Given the description of an element on the screen output the (x, y) to click on. 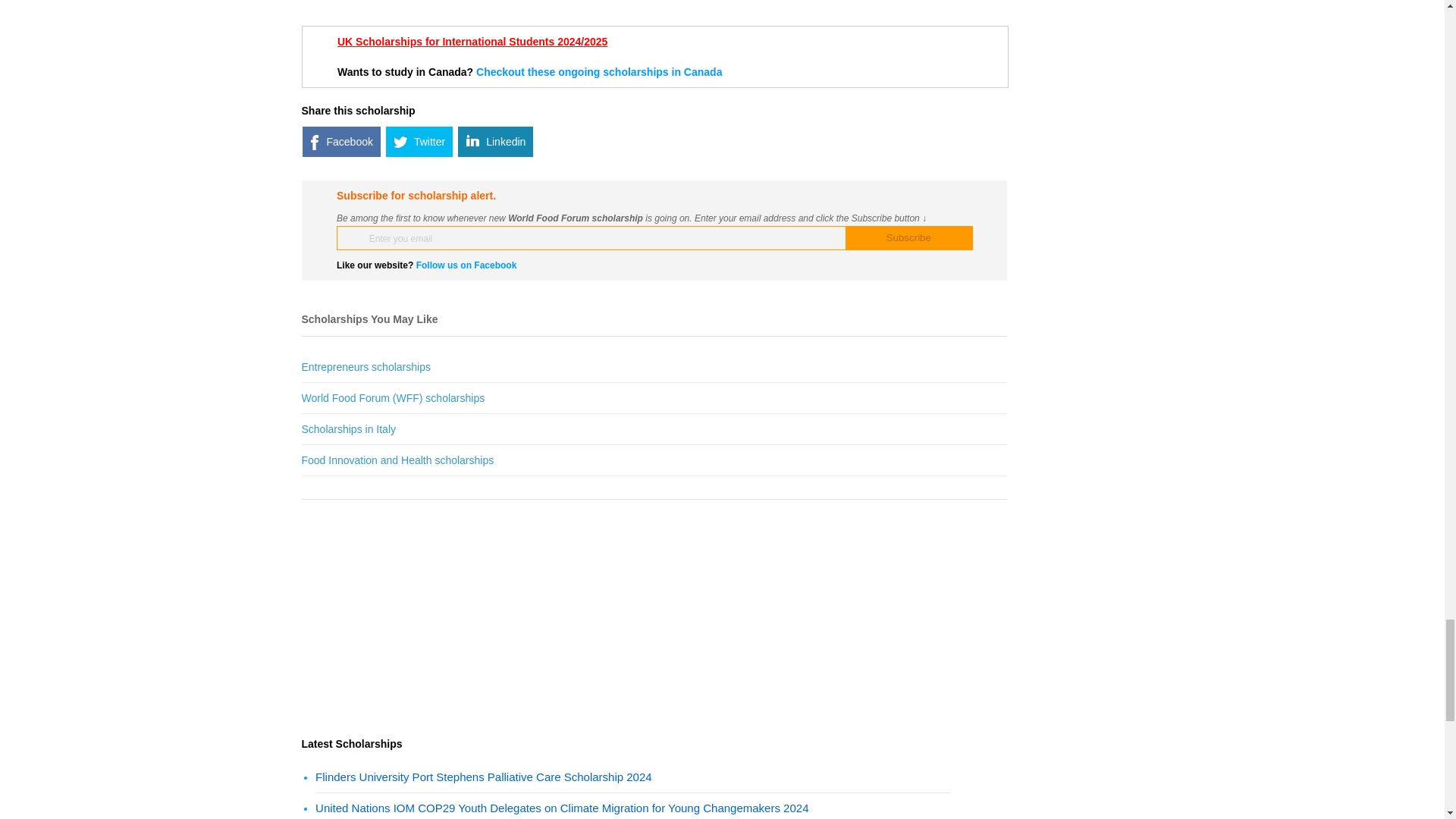
Share on Linkedin (495, 142)
Share on Twitter  (418, 142)
Share on Facebook (341, 142)
Subscribe (908, 237)
